Given the description of an element on the screen output the (x, y) to click on. 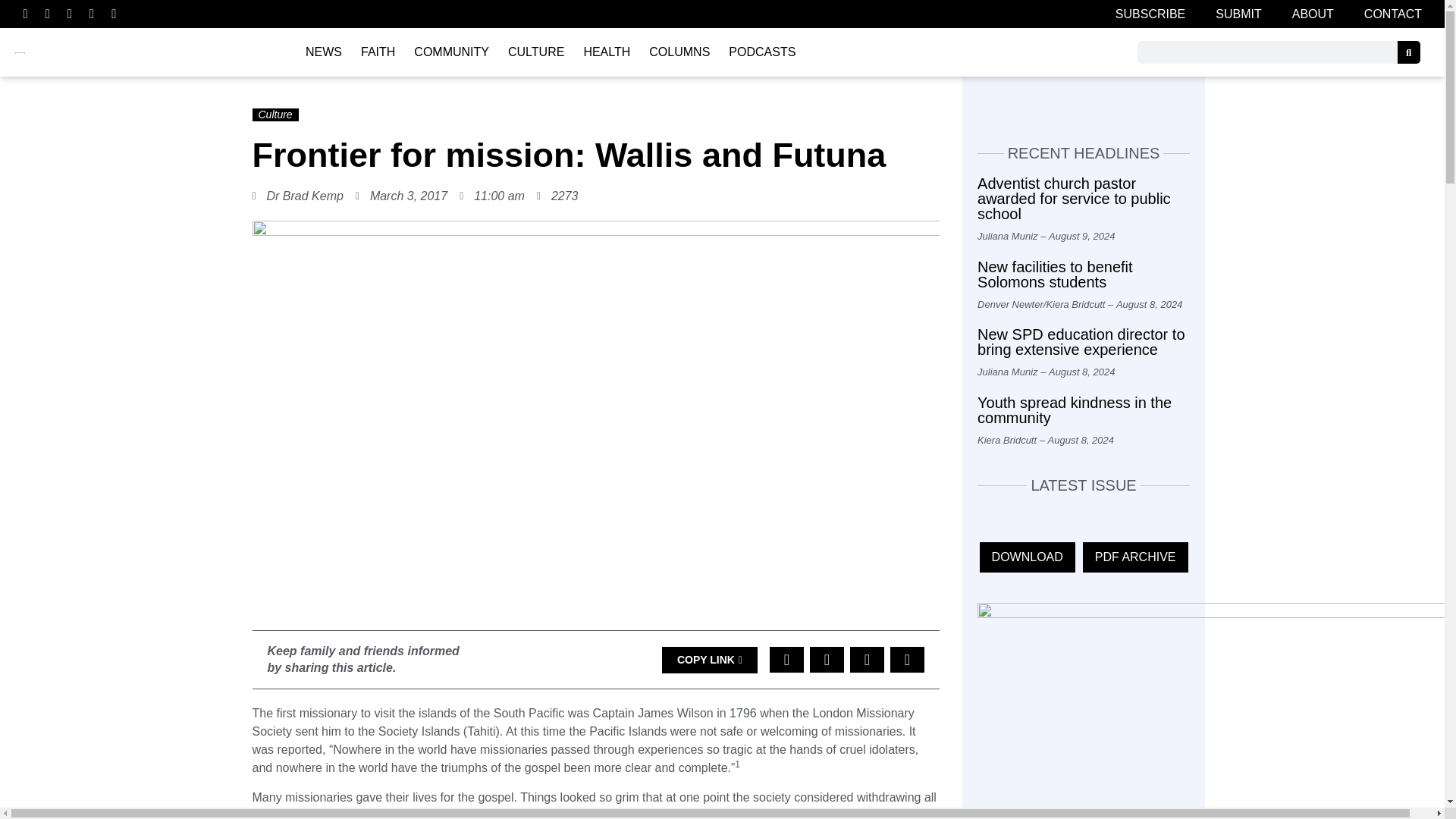
Posts by Juliana Muniz (1007, 235)
March 3, 2017 (400, 196)
NEWS (323, 52)
COPY LINK (709, 660)
SUBSCRIBE (1149, 14)
CONTACT (1393, 14)
HEALTH (606, 52)
ABOUT (1312, 14)
PODCASTS (761, 52)
COMMUNITY (451, 52)
